Given the description of an element on the screen output the (x, y) to click on. 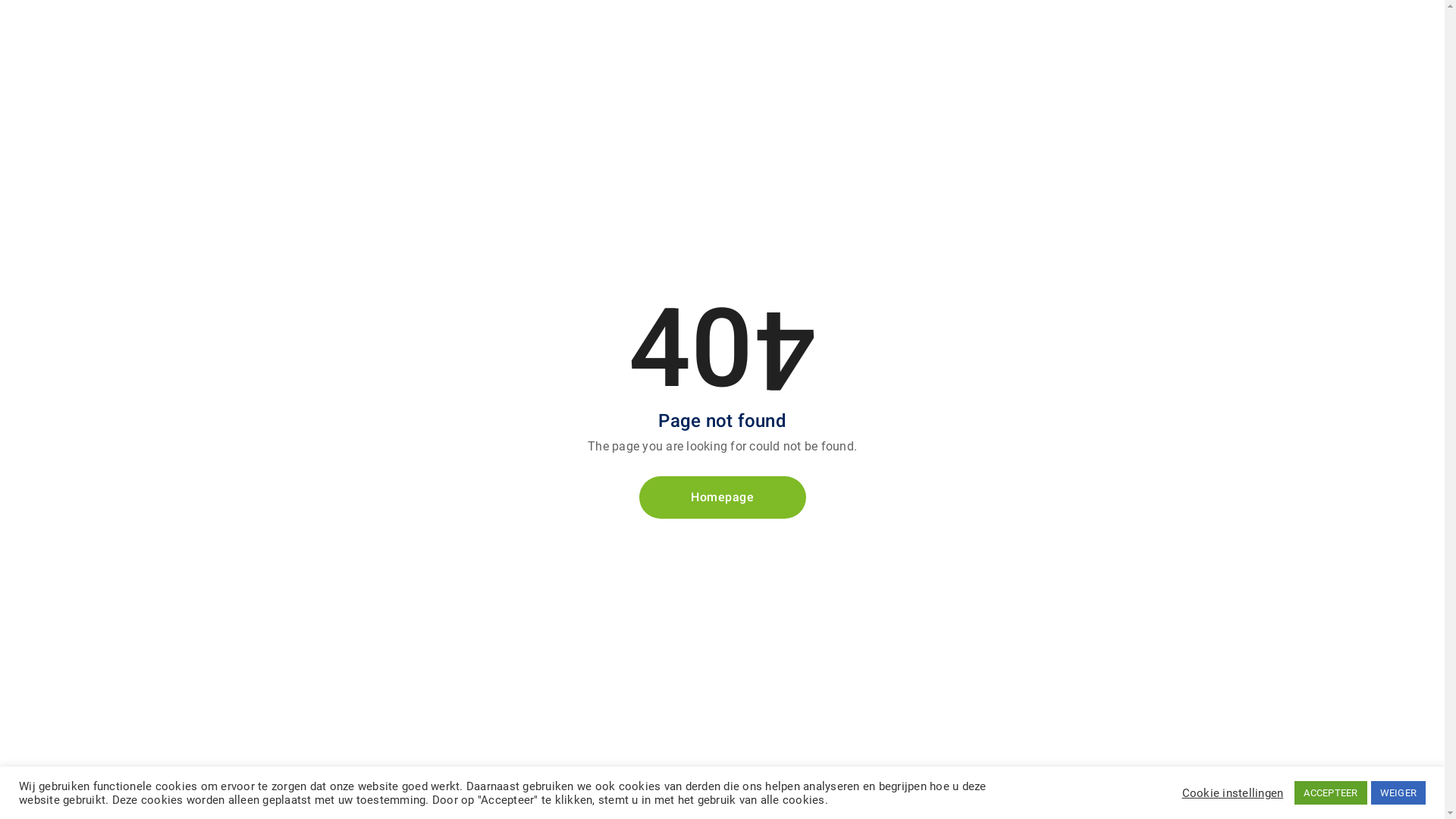
Homepage Element type: text (721, 497)
ACCEPTEER Element type: text (1330, 792)
WEIGER Element type: text (1398, 792)
Cookie instellingen Element type: text (1232, 792)
